Given the description of an element on the screen output the (x, y) to click on. 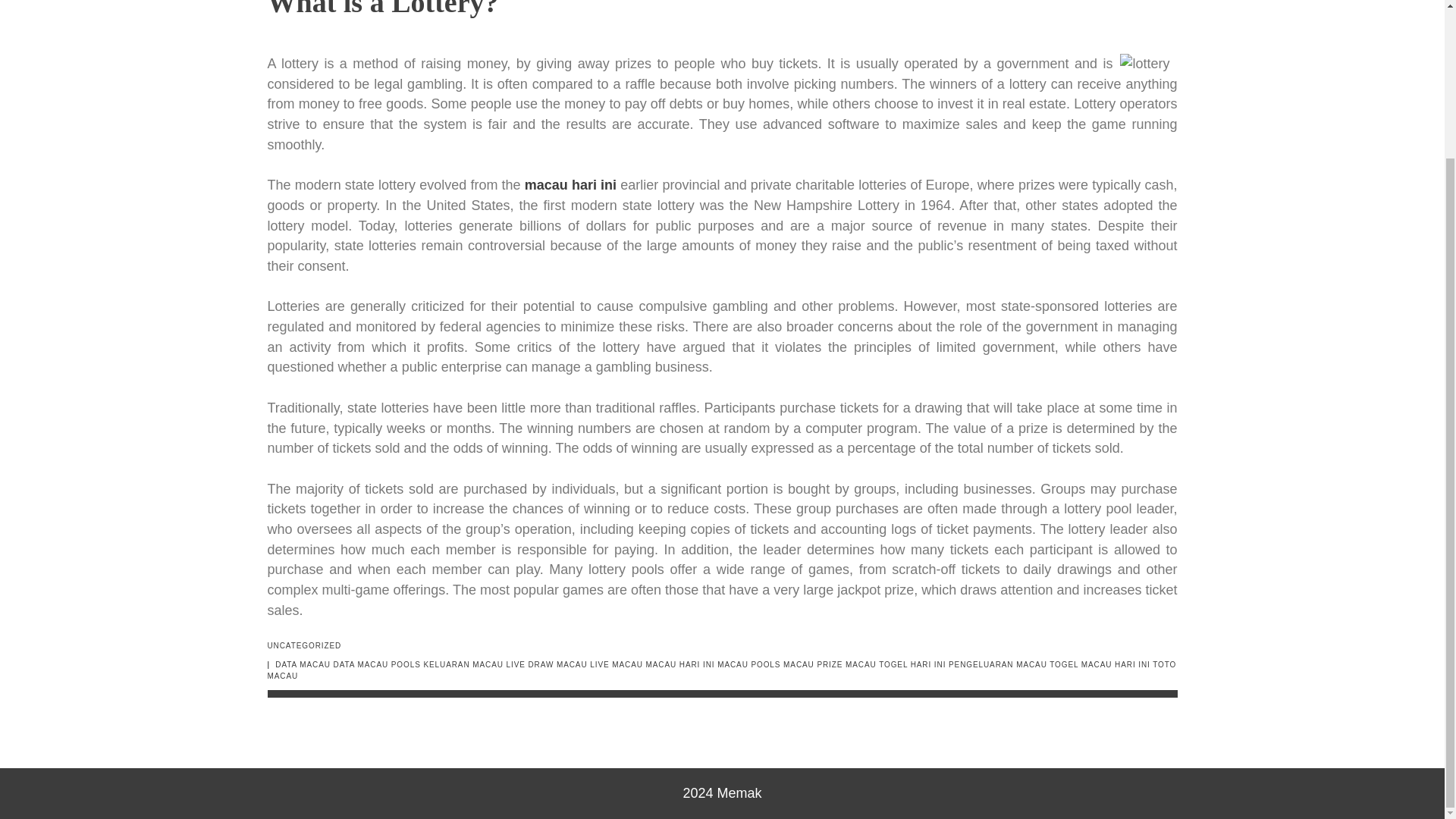
MACAU HARI INI (680, 664)
TOTO MACAU (721, 670)
KELUARAN MACAU (462, 664)
MACAU POOLS (748, 664)
DATA MACAU (302, 664)
LIVE MACAU (616, 664)
UNCATEGORIZED (303, 645)
TOGEL MACAU HARI INI (1099, 664)
macau hari ini (569, 184)
What is a Lottery? (381, 9)
MACAU PRIZE (813, 664)
MACAU TOGEL HARI INI (894, 664)
PENGELUARAN MACAU (997, 664)
DATA MACAU POOLS (376, 664)
LIVE DRAW MACAU (547, 664)
